Given the description of an element on the screen output the (x, y) to click on. 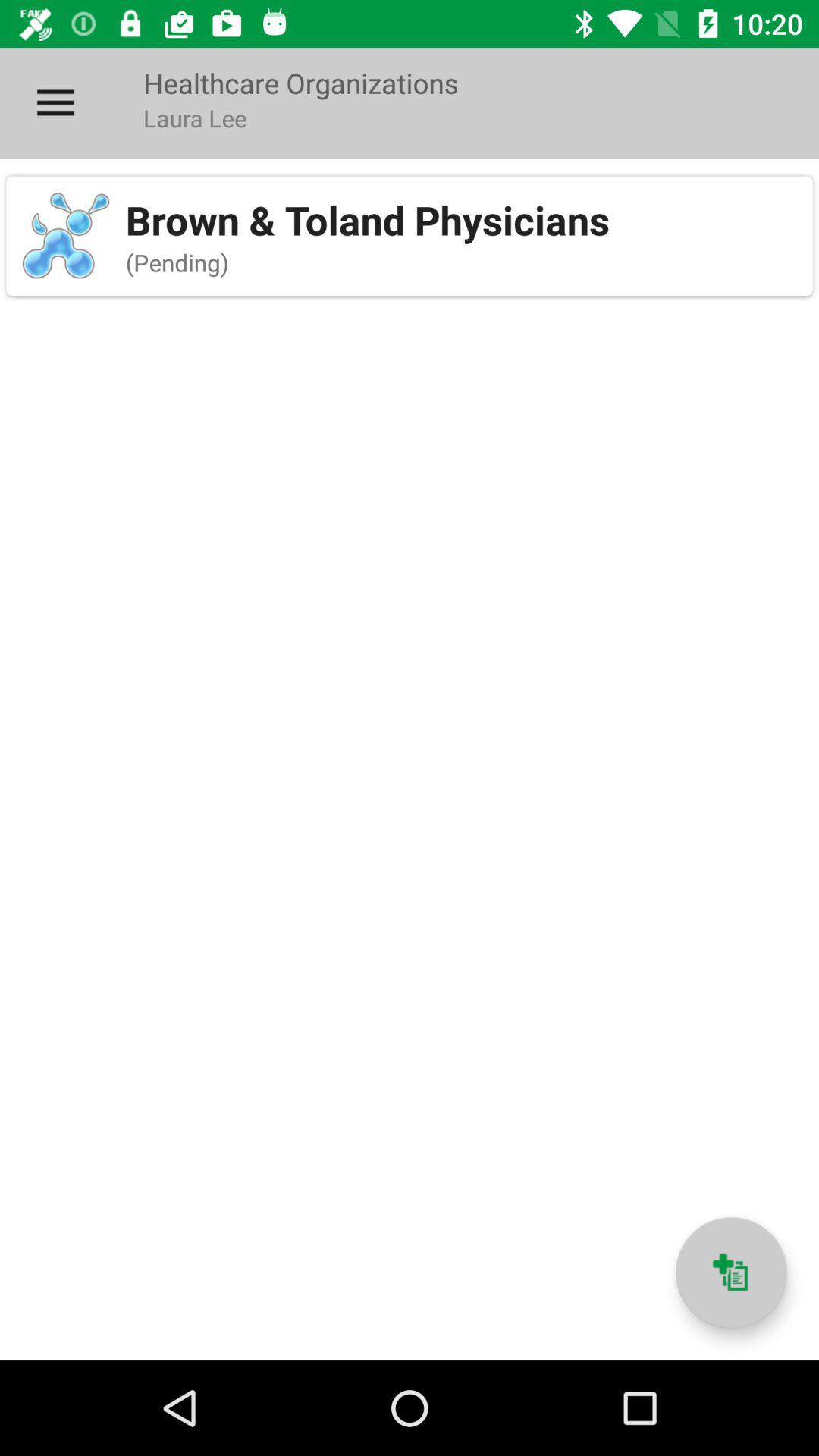
turn off icon at the bottom right corner (731, 1272)
